Given the description of an element on the screen output the (x, y) to click on. 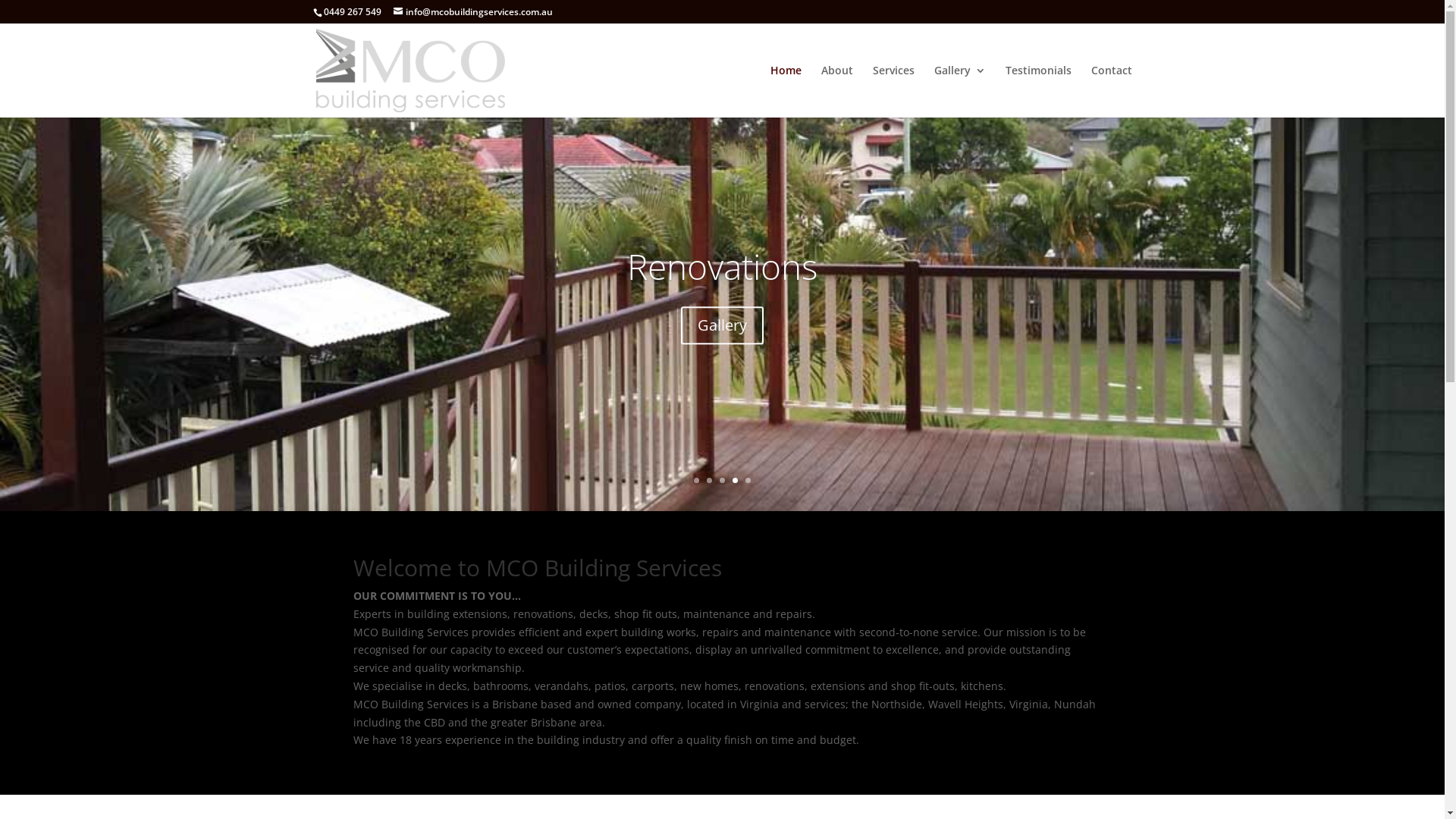
Renovations Element type: text (722, 296)
Testimonials Element type: text (1038, 91)
About Element type: text (836, 91)
Contact Element type: text (1110, 91)
1 Element type: text (696, 480)
info@mcobuildingservices.com.au Element type: text (472, 11)
Services Element type: text (892, 91)
Home Element type: text (785, 91)
Gallery Element type: text (959, 91)
Gallery Element type: text (721, 355)
3 Element type: text (721, 480)
5 Element type: text (747, 480)
4 Element type: text (734, 480)
2 Element type: text (709, 480)
